Given the description of an element on the screen output the (x, y) to click on. 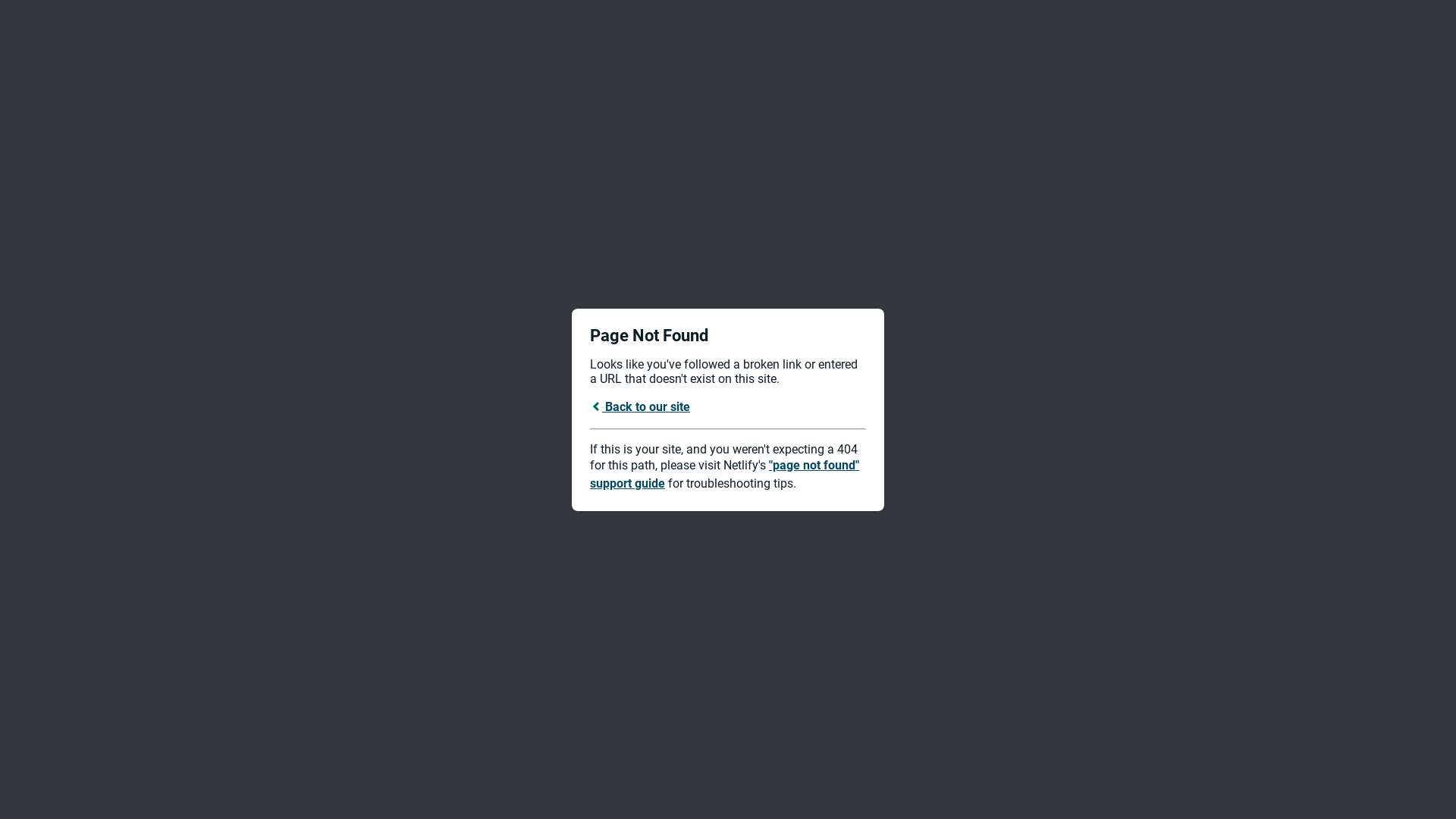
"page not found" support guide Element type: text (724, 474)
Back to our site Element type: text (639, 405)
